Given the description of an element on the screen output the (x, y) to click on. 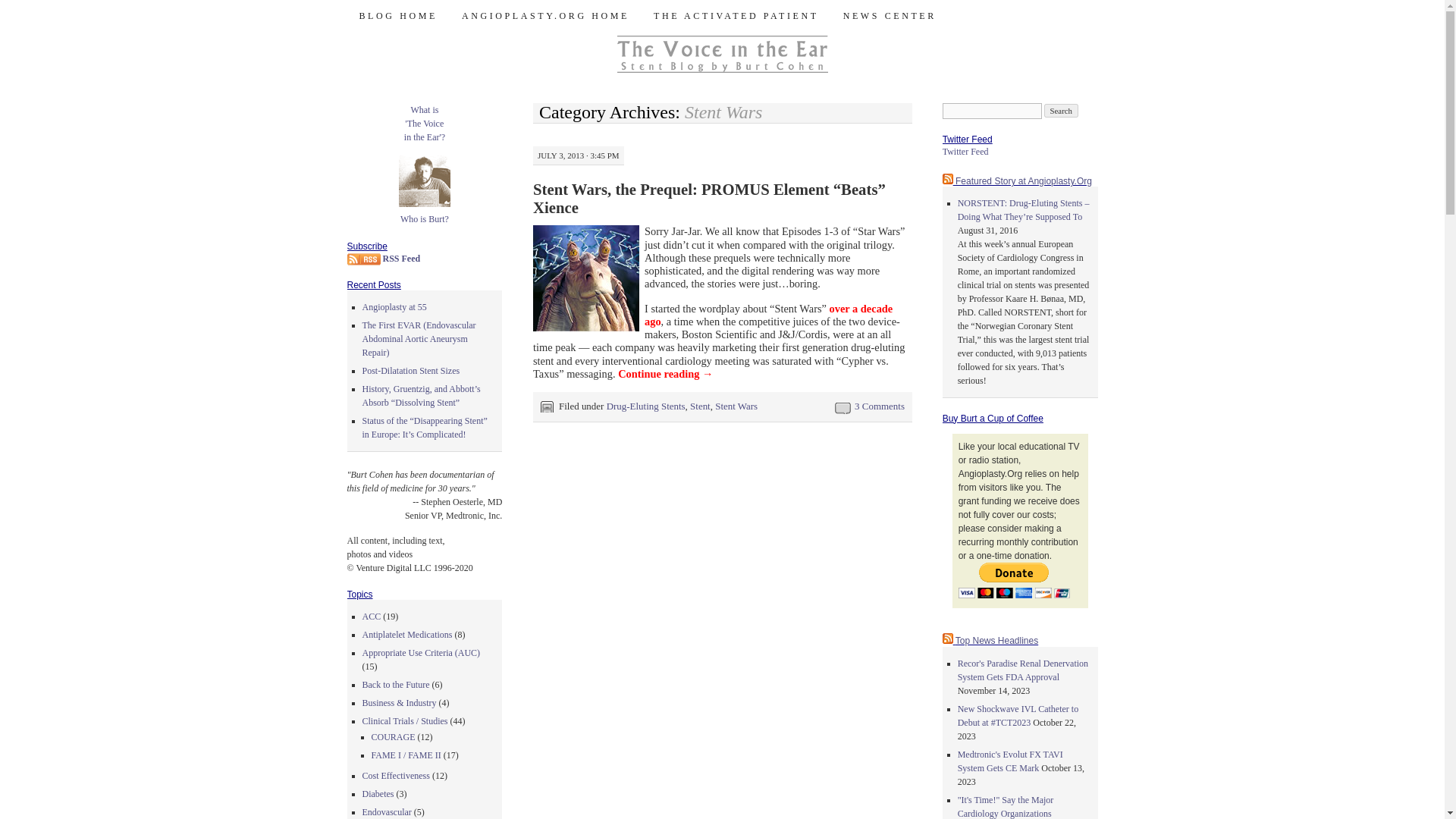
NEWS CENTER (890, 15)
Burt's Stent Blog (458, 26)
Search (1060, 110)
RSS Feed (383, 258)
Stent (700, 405)
"Dear Fool" - Burt's Stent Blog (768, 314)
Drug-Eluting Stents (424, 123)
over a decade ago (646, 405)
Endovascular (768, 314)
Antiplatelet Medications (387, 811)
Cost Effectiveness (407, 634)
Angioplasty at 55 (395, 775)
ACC (394, 307)
Burt's Stent Blog (371, 615)
